Given the description of an element on the screen output the (x, y) to click on. 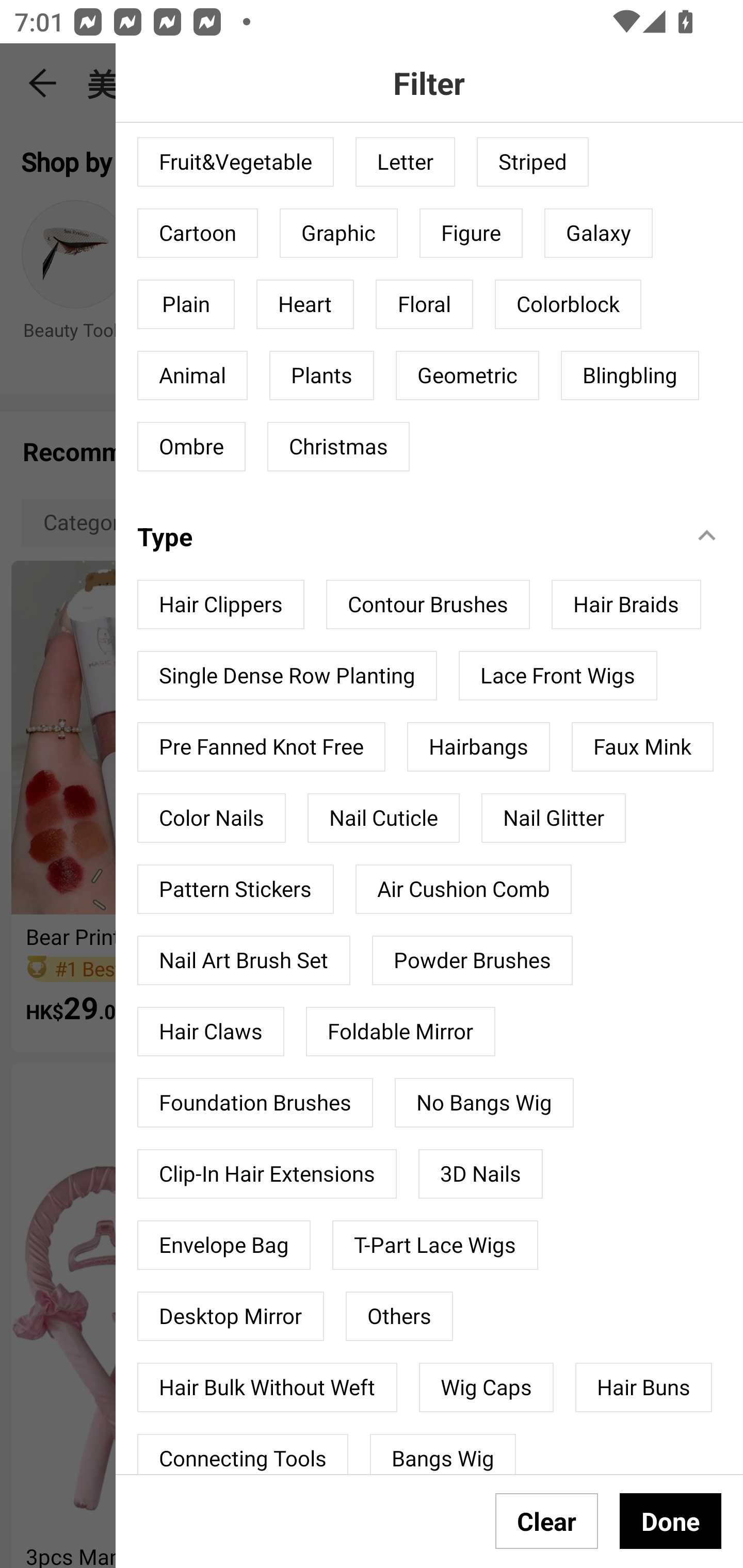
Fruit&Vegetable (235, 161)
Letter (404, 161)
Striped (532, 161)
Cartoon (197, 232)
Graphic (338, 232)
Figure (470, 232)
Galaxy (598, 232)
Plain (185, 304)
Heart (304, 304)
Floral (424, 304)
Colorblock (567, 304)
Animal (192, 375)
Plants (320, 375)
Geometric (467, 375)
Blingbling (629, 375)
Ombre (191, 446)
Christmas (338, 446)
Type (403, 536)
Hair Clippers (220, 604)
Contour Brushes (427, 604)
Hair Braids (626, 604)
Single Dense Row Planting (286, 675)
Lace Front Wigs (557, 675)
Pre Fanned Knot Free (261, 746)
Hairbangs (478, 746)
Faux Mink (642, 746)
Color Nails (211, 818)
Nail Cuticle (383, 818)
Nail Glitter (553, 818)
Pattern Stickers (235, 888)
Air Cushion Comb (463, 888)
Nail Art Brush Set (243, 960)
Powder Brushes (472, 960)
Hair Claws (210, 1031)
Foldable Mirror (400, 1031)
Foundation Brushes (254, 1102)
No Bangs Wig (483, 1102)
Clip-In Hair Extensions (266, 1173)
3D Nails (480, 1173)
Envelope Bag (223, 1244)
T-Part Lace Wigs (434, 1244)
Desktop Mirror (230, 1316)
Others (399, 1316)
Hair Bulk Without Weft (267, 1387)
Wig Caps (486, 1387)
Hair Buns (643, 1387)
Connecting Tools (242, 1453)
Bangs Wig (442, 1453)
Clear (546, 1520)
Done (670, 1520)
